Given the description of an element on the screen output the (x, y) to click on. 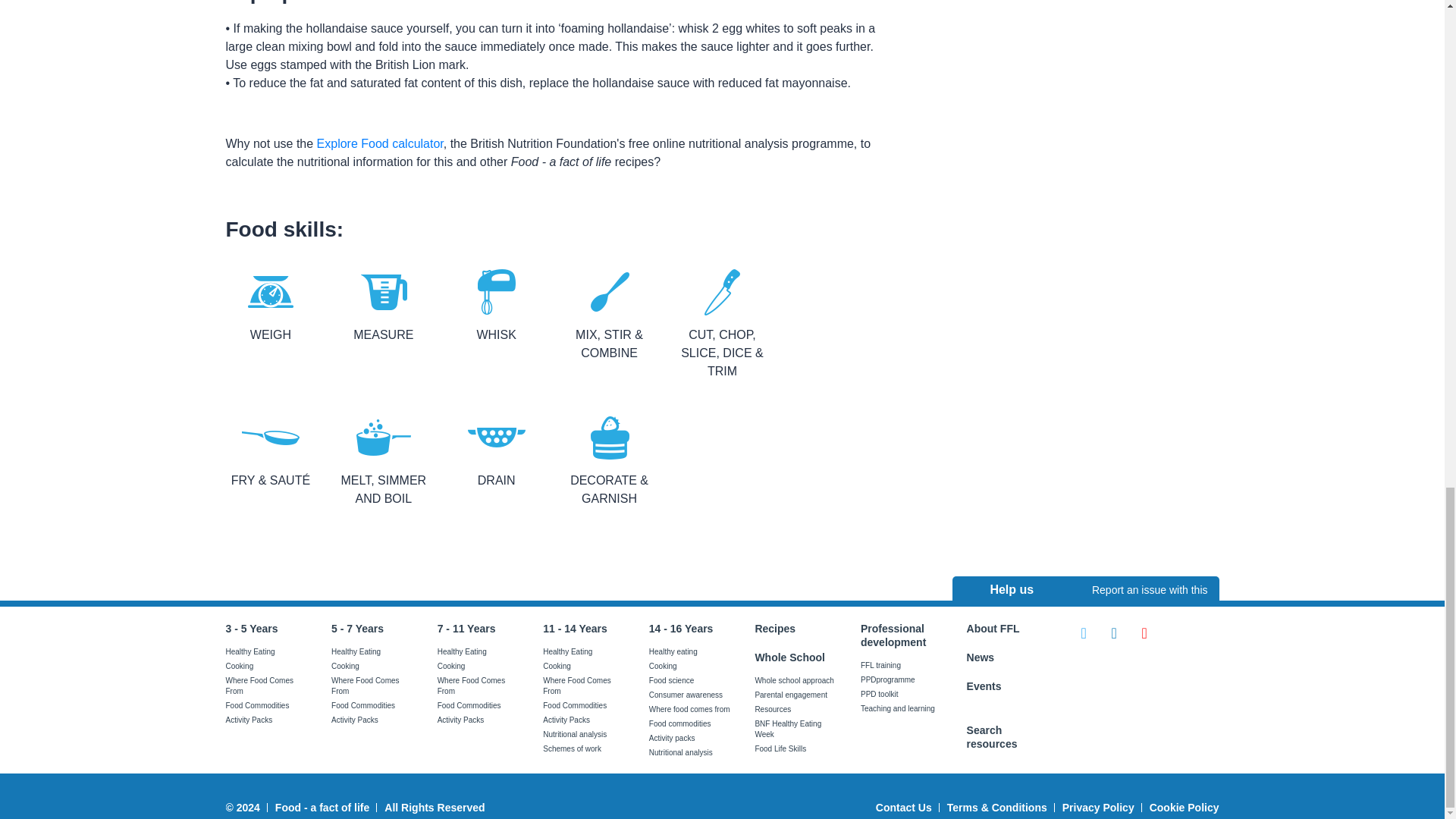
3 - 5 Years (251, 628)
Food Commodities (257, 705)
Healthy Eating (250, 651)
Cooking (239, 665)
Where Food Comes From (259, 685)
Activity Packs (249, 719)
